Given the description of an element on the screen output the (x, y) to click on. 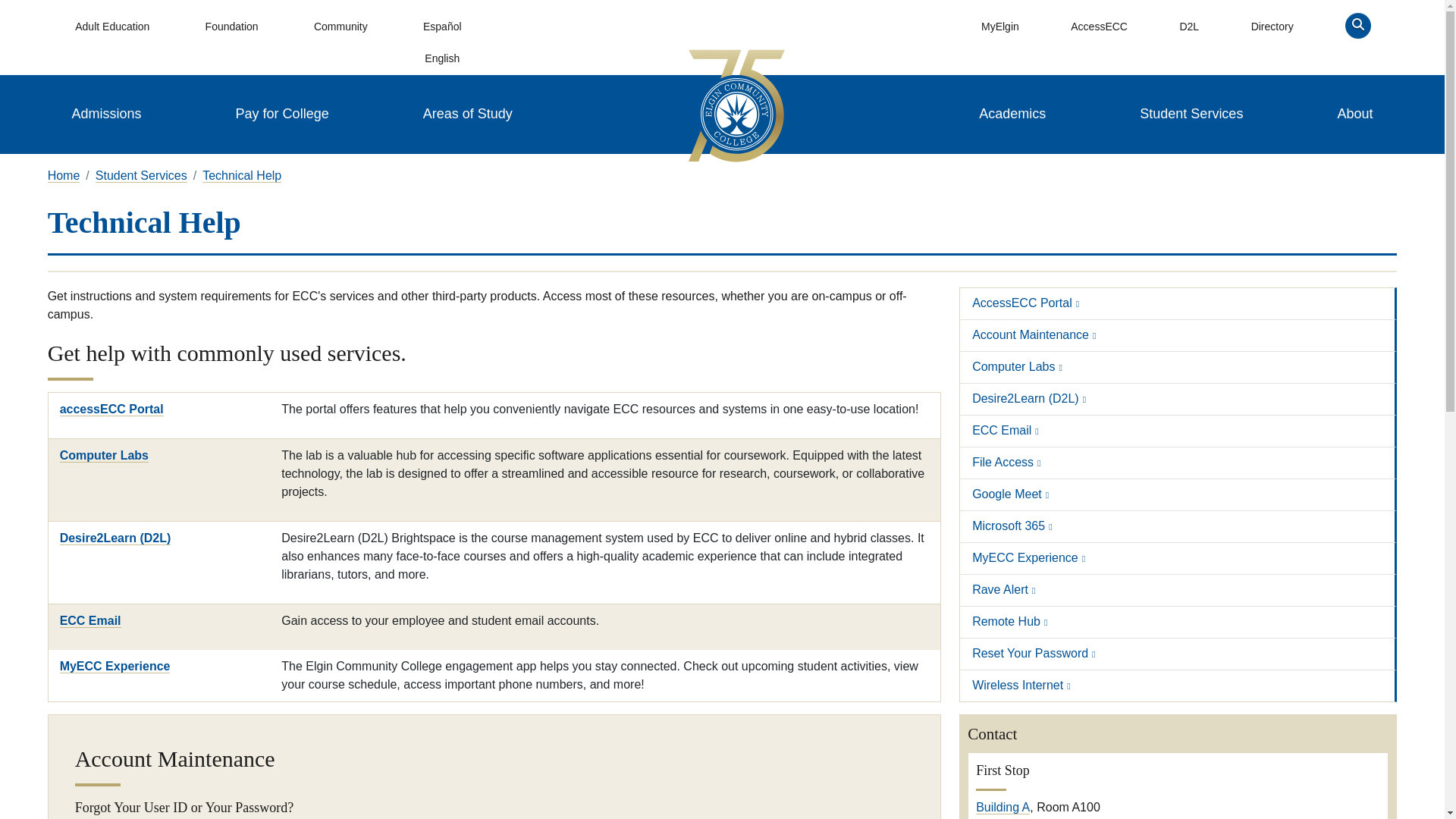
AccessECC (1099, 27)
Adult Education (112, 27)
Technical Help (241, 175)
Areas of Study (467, 114)
Pay for College (282, 114)
ECC Email (89, 621)
Academics (1012, 114)
Admissions (105, 114)
Community (339, 27)
Foundation (231, 27)
View Building A on campus map. (1002, 807)
English (441, 59)
accessECC Portal (111, 409)
AccessECC Portal (1025, 303)
AccessECC (1099, 27)
